Given the description of an element on the screen output the (x, y) to click on. 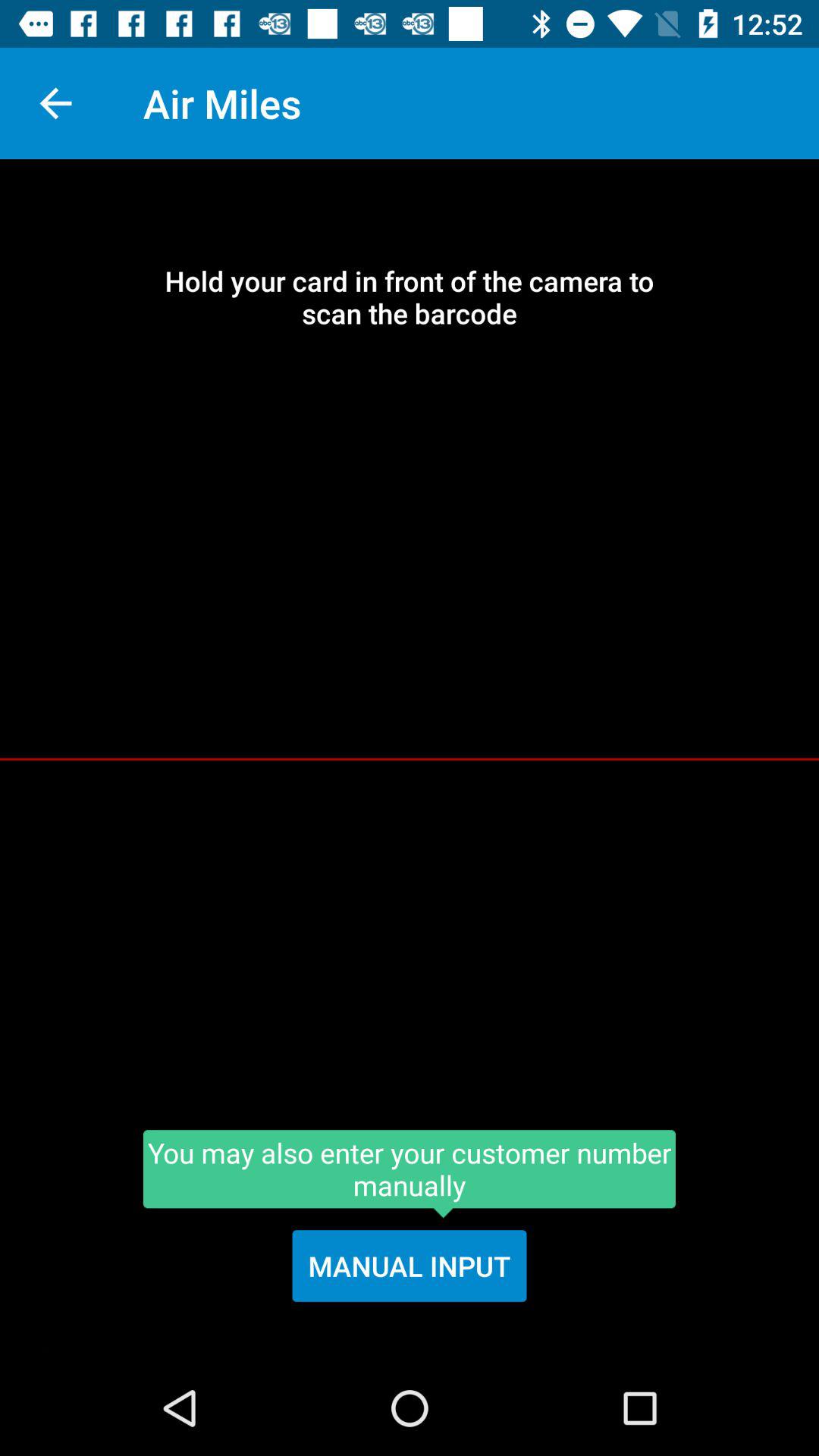
swipe to the manual input (409, 1265)
